Given the description of an element on the screen output the (x, y) to click on. 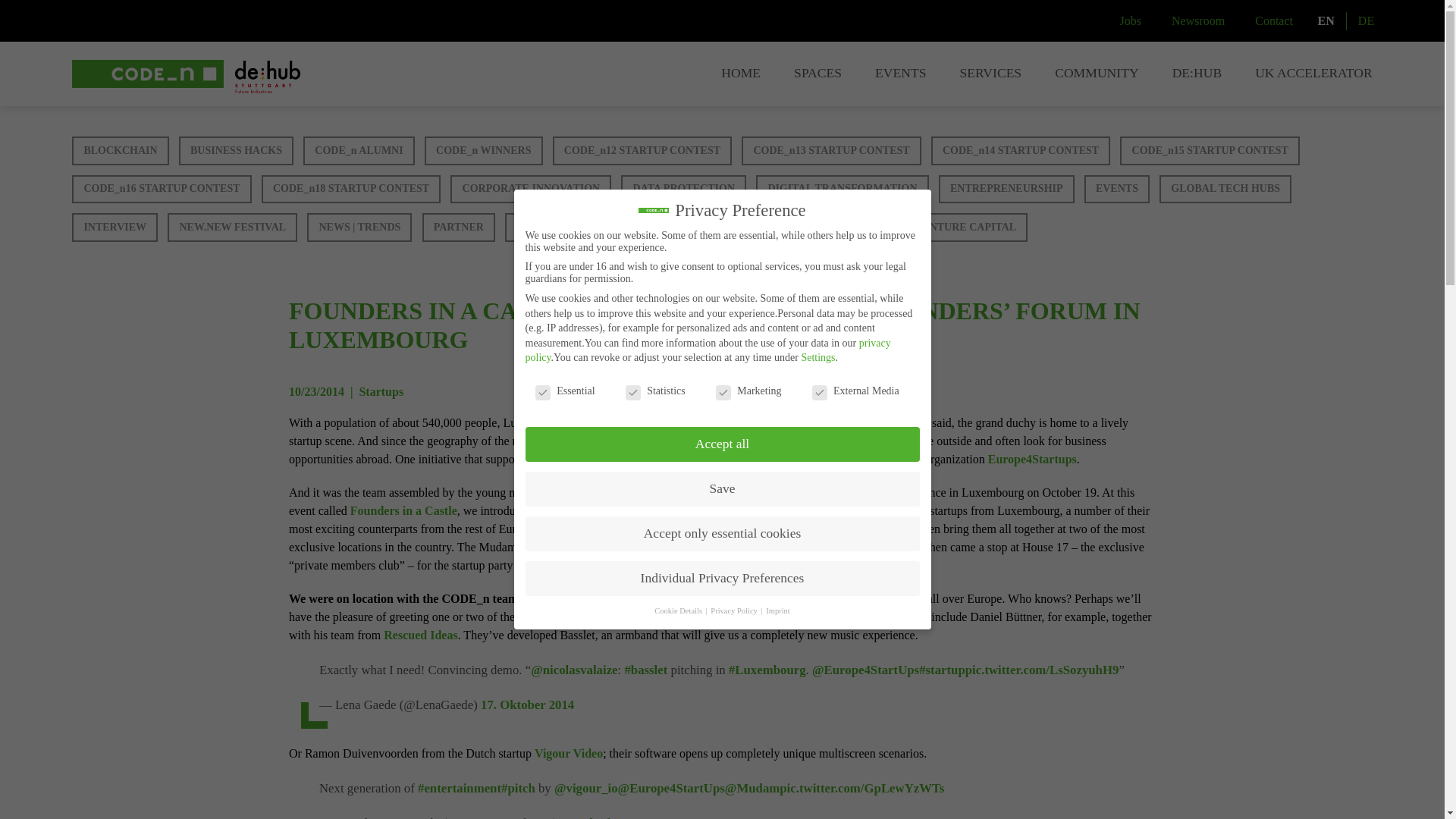
DATA PROTECTION (683, 189)
BUSINESS HACKS (236, 150)
EVENTS (1117, 189)
DIGITAL TRANSFORMATION (841, 189)
Contact (1273, 21)
GLOBAL TECH HUBS (1224, 189)
BLOCKCHAIN (119, 150)
PARTNER (458, 226)
HOME (740, 74)
SPACES (817, 74)
